Given the description of an element on the screen output the (x, y) to click on. 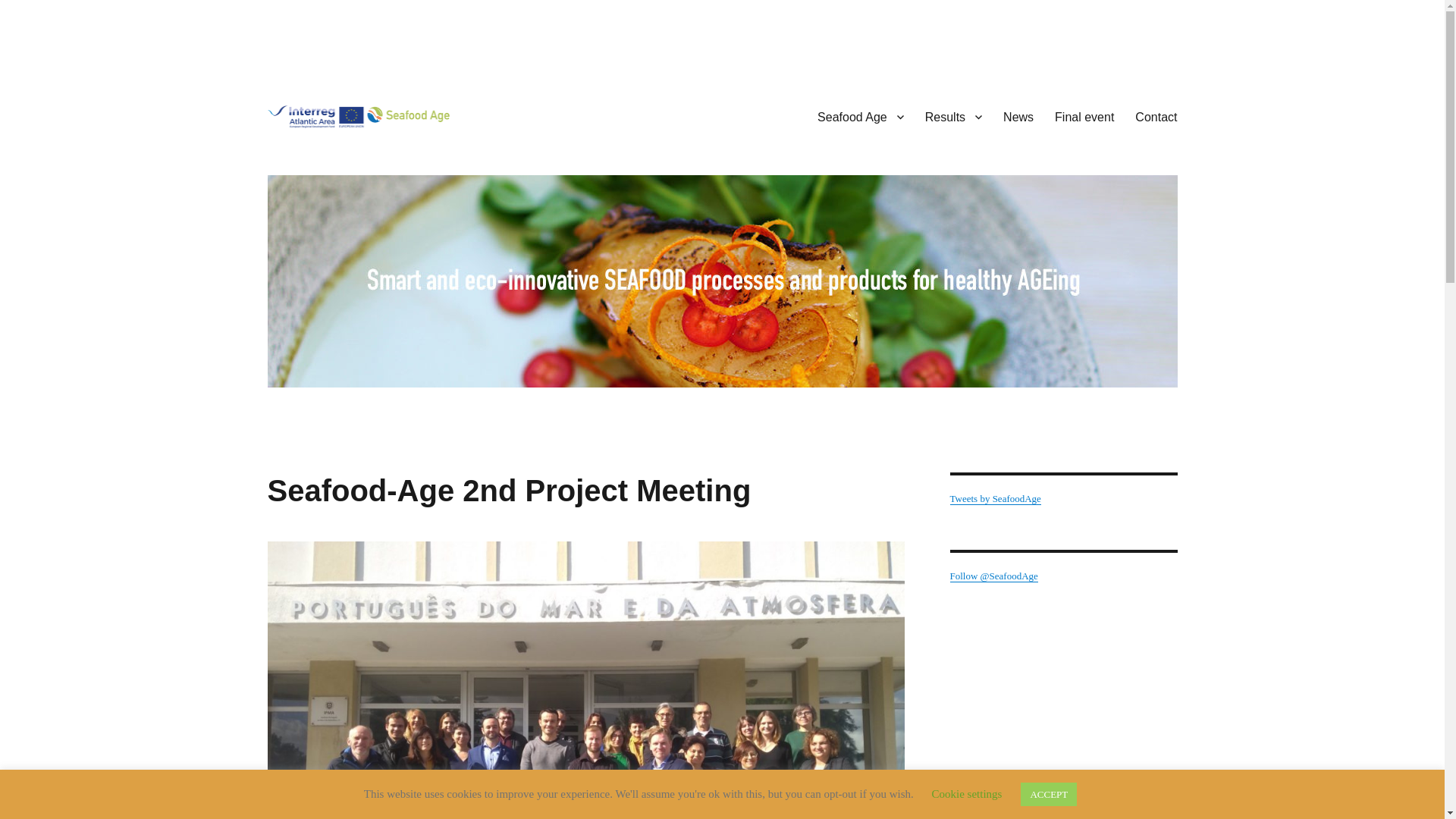
Final event (1083, 116)
Seafood Age (860, 116)
News (1017, 116)
Tweets by SeafoodAge (995, 498)
Results (953, 116)
www.seafoodage.eu (368, 152)
Contact (1156, 116)
